Given the description of an element on the screen output the (x, y) to click on. 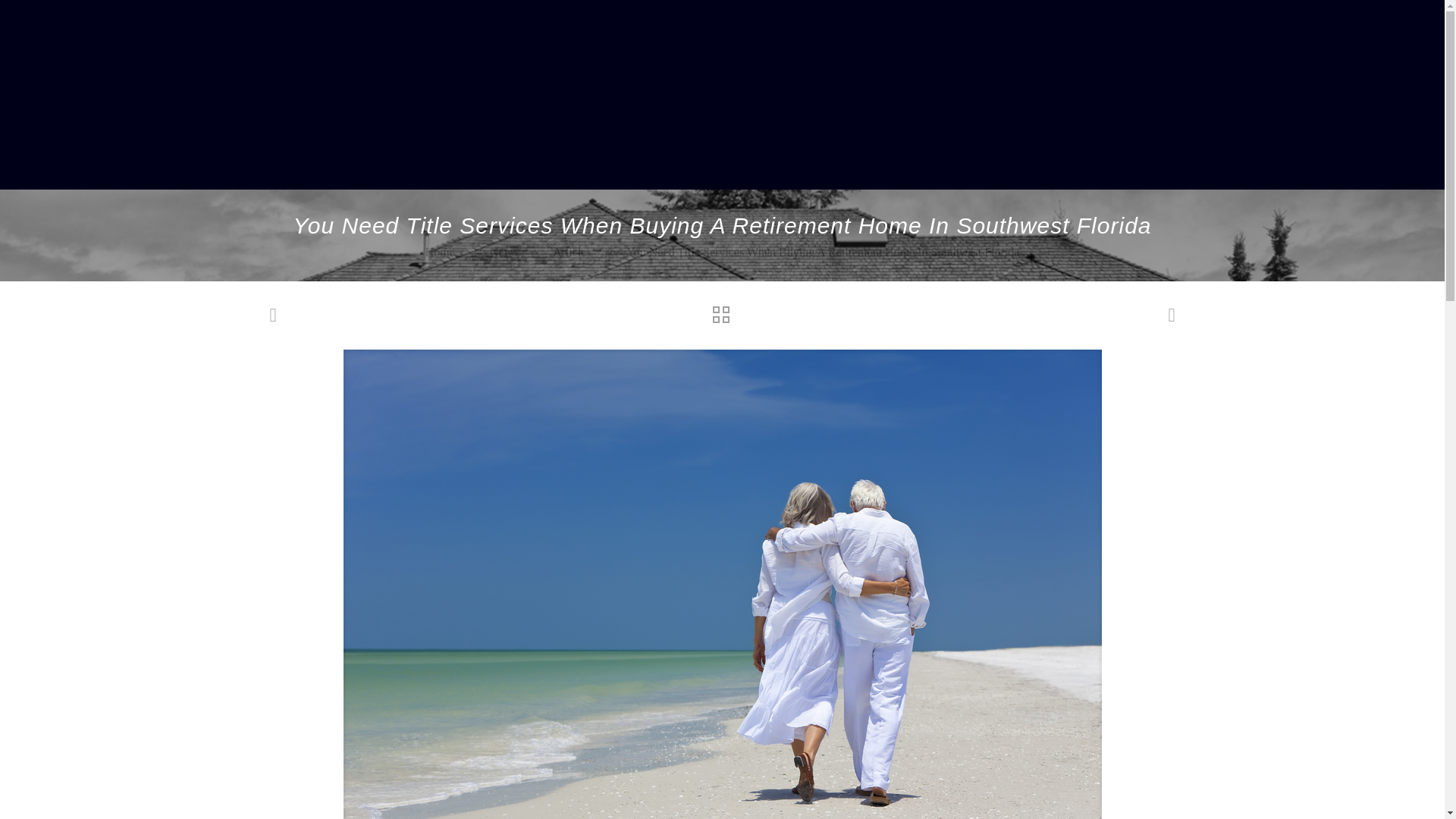
News (502, 251)
Articles (572, 251)
Home (439, 251)
